Given the description of an element on the screen output the (x, y) to click on. 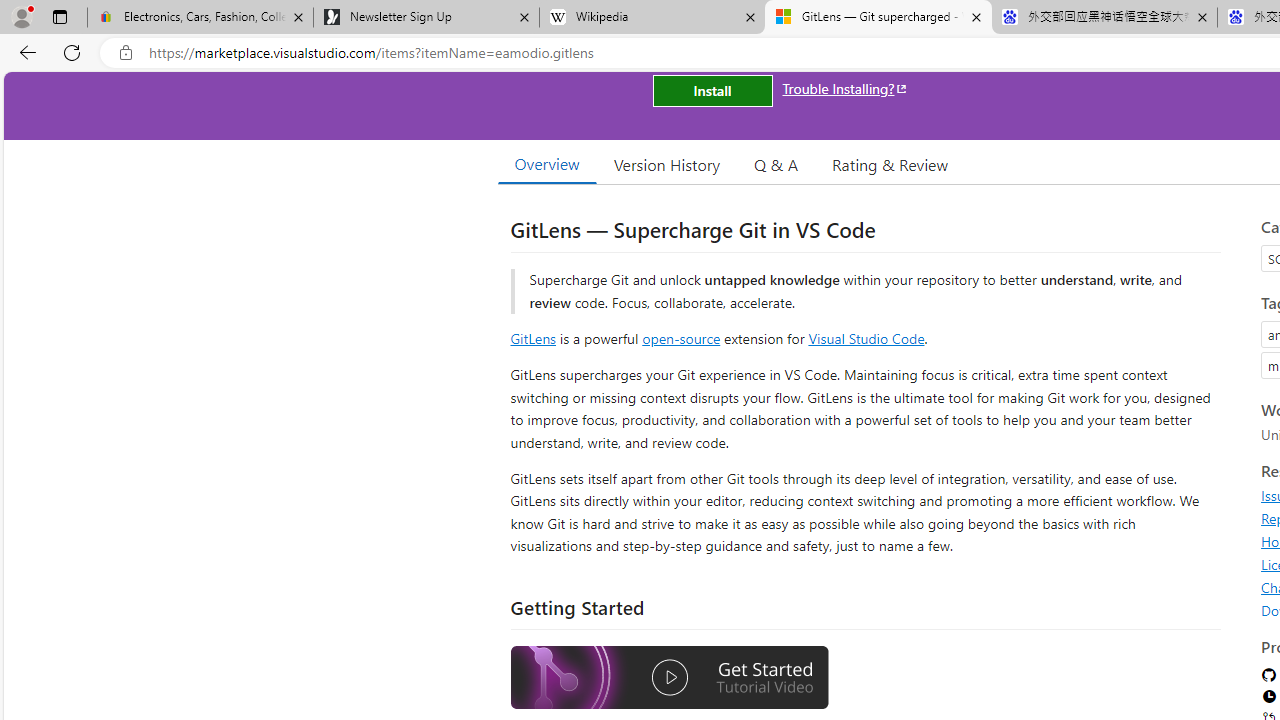
Install (712, 90)
open-source (681, 337)
Electronics, Cars, Fashion, Collectibles & More | eBay (200, 17)
Q & A (776, 164)
